Given the description of an element on the screen output the (x, y) to click on. 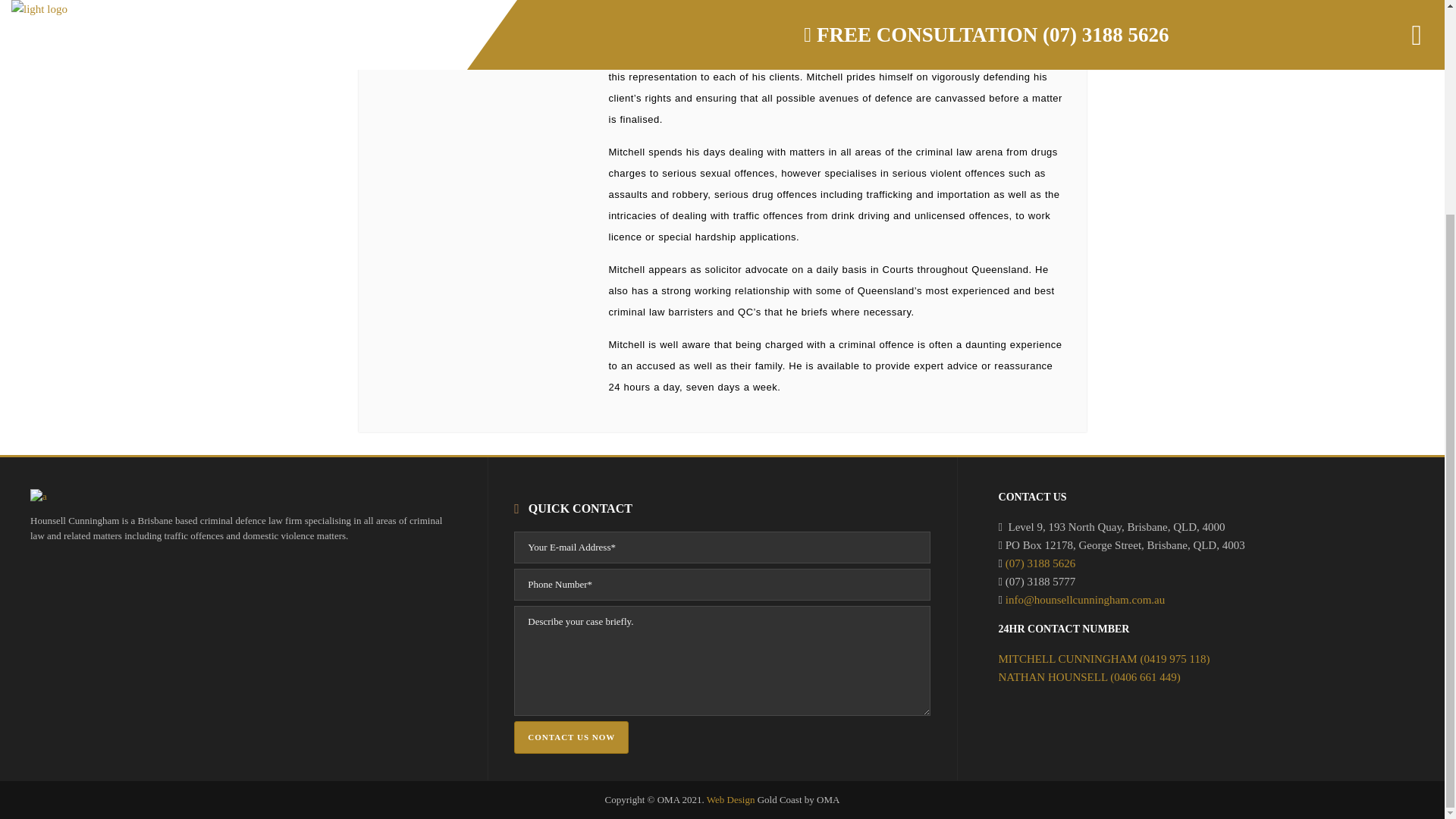
Web Design (730, 799)
Contact us now (570, 737)
Contact us now (570, 737)
